Given the description of an element on the screen output the (x, y) to click on. 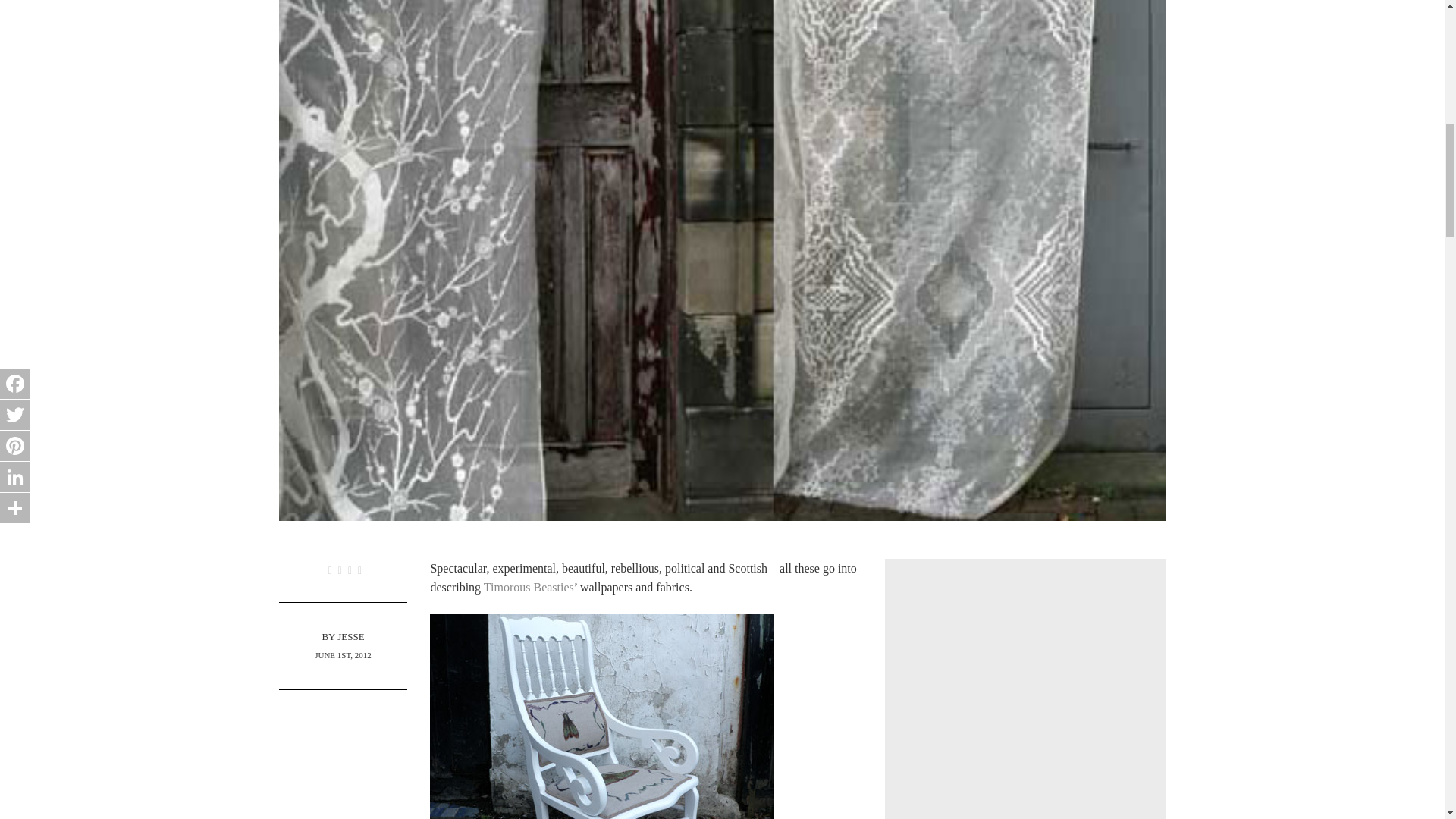
Posts by jesse (350, 636)
3rd party ad content (1024, 701)
